Given the description of an element on the screen output the (x, y) to click on. 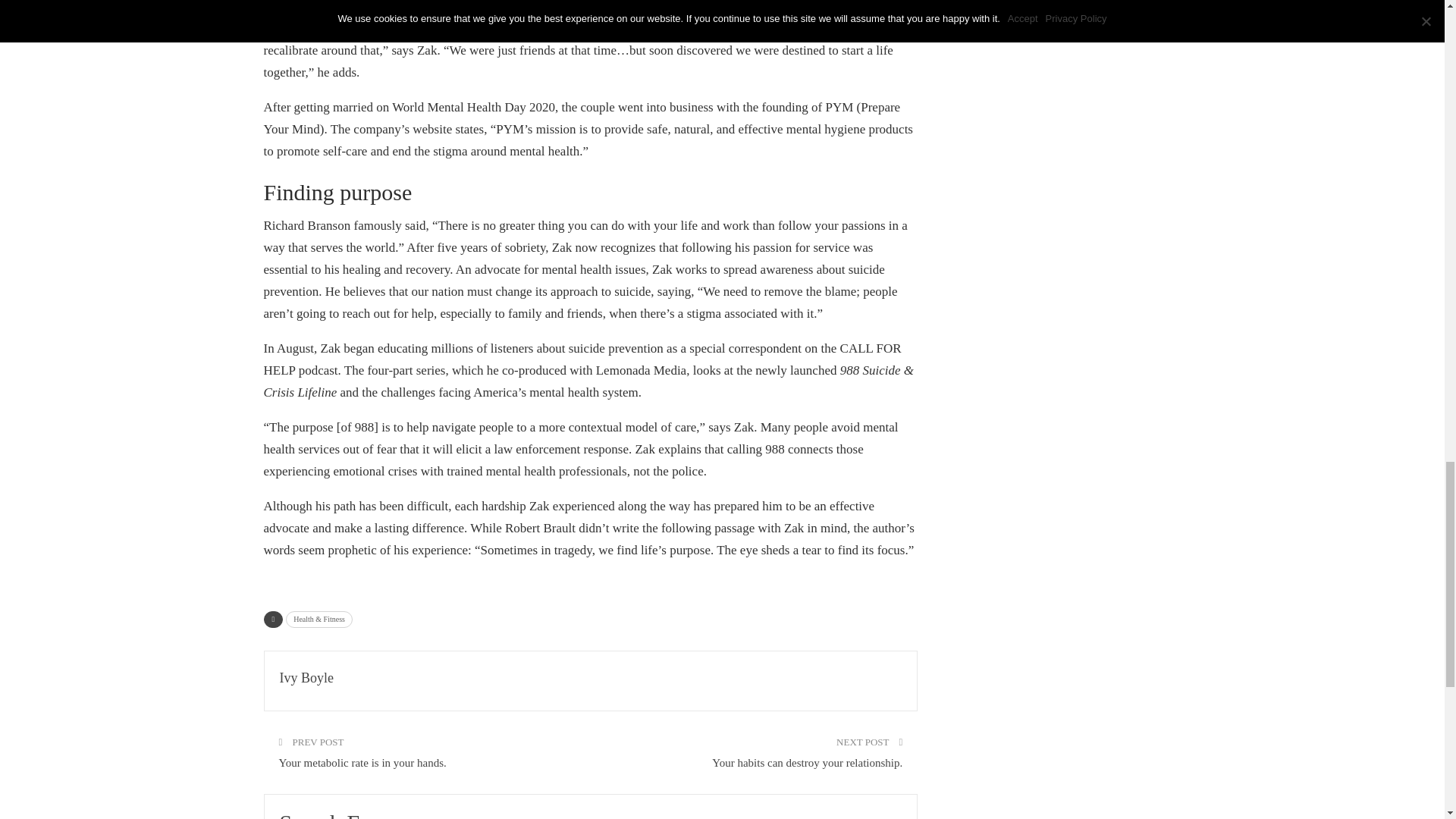
More From Author (856, 814)
Ivy Boyle (306, 677)
Your metabolic rate is in your hands. (362, 762)
Your habits can destroy your relationship. (806, 762)
